Given the description of an element on the screen output the (x, y) to click on. 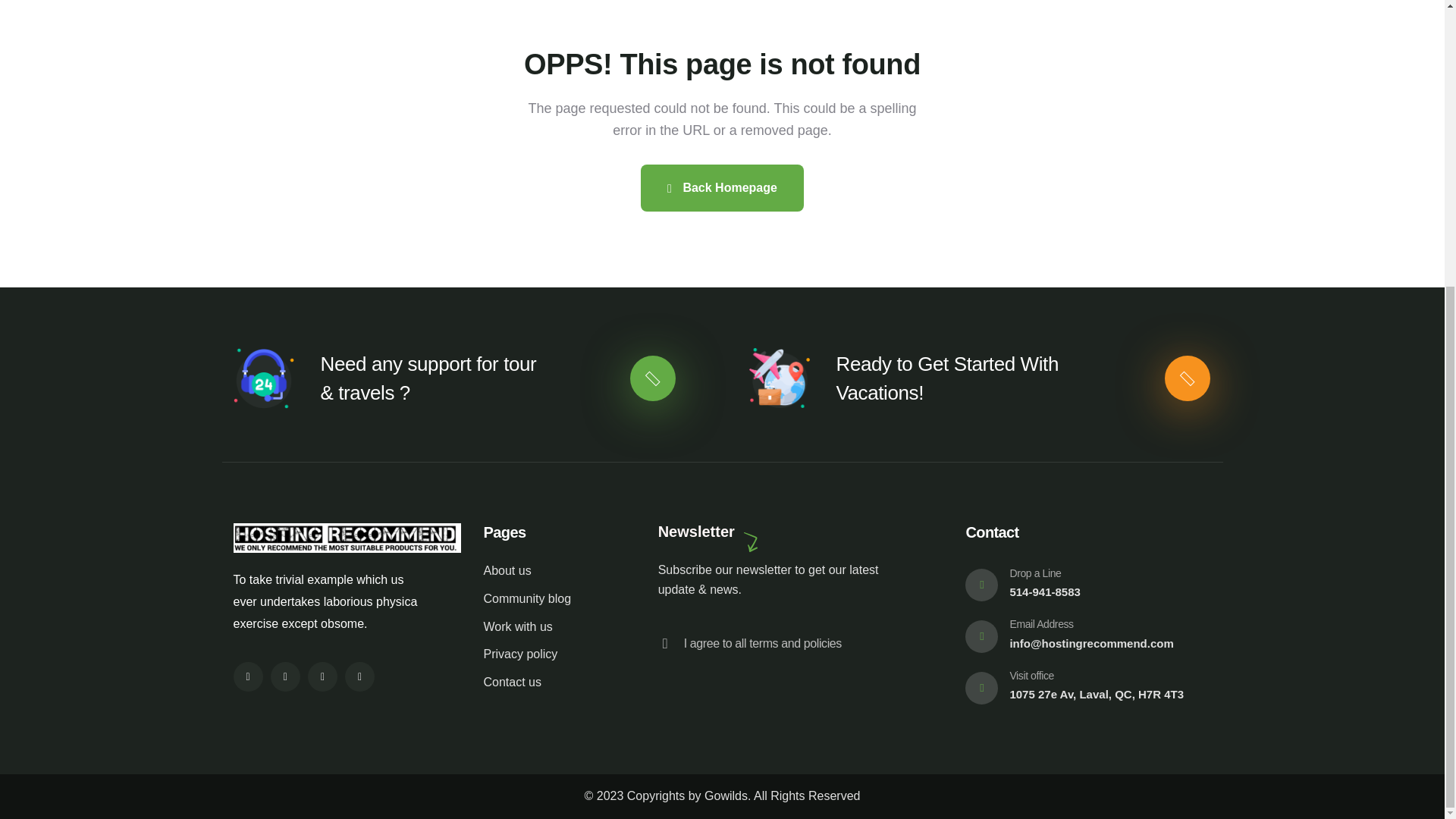
Work with us (551, 627)
About us (551, 571)
Back Homepage (721, 187)
Community blog (551, 599)
Contact us (551, 682)
Ready to Get Started With Vacations! (946, 378)
Privacy policy (551, 654)
Home (346, 537)
